Given the description of an element on the screen output the (x, y) to click on. 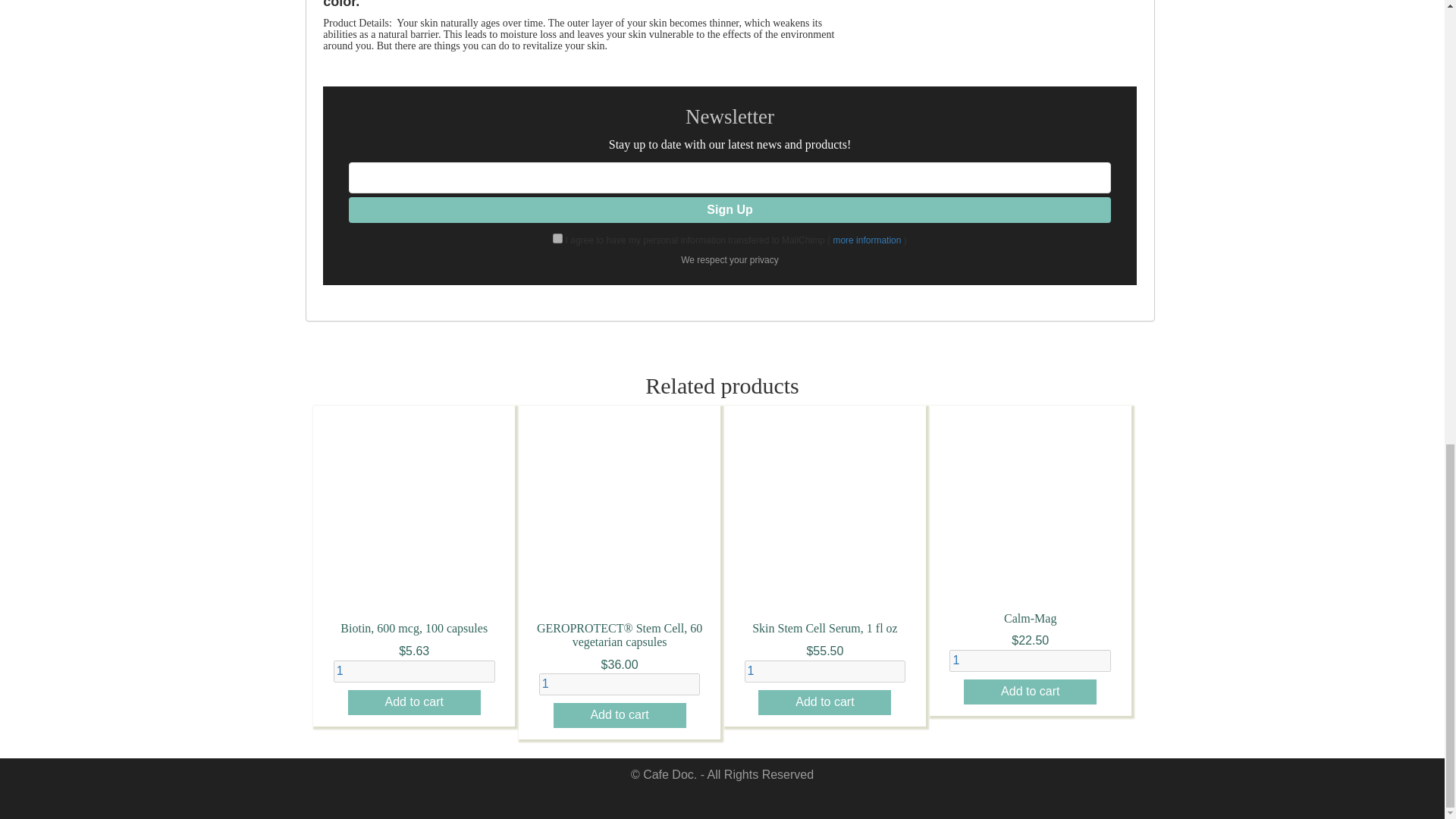
Add to cart (619, 715)
1 (1029, 660)
Sign Up (729, 210)
1 (824, 671)
Add to cart (413, 702)
Add to cart (1029, 691)
on (557, 238)
Add to cart (824, 702)
1 (414, 671)
Sign Up (729, 210)
1 (619, 684)
more information (866, 240)
